Given the description of an element on the screen output the (x, y) to click on. 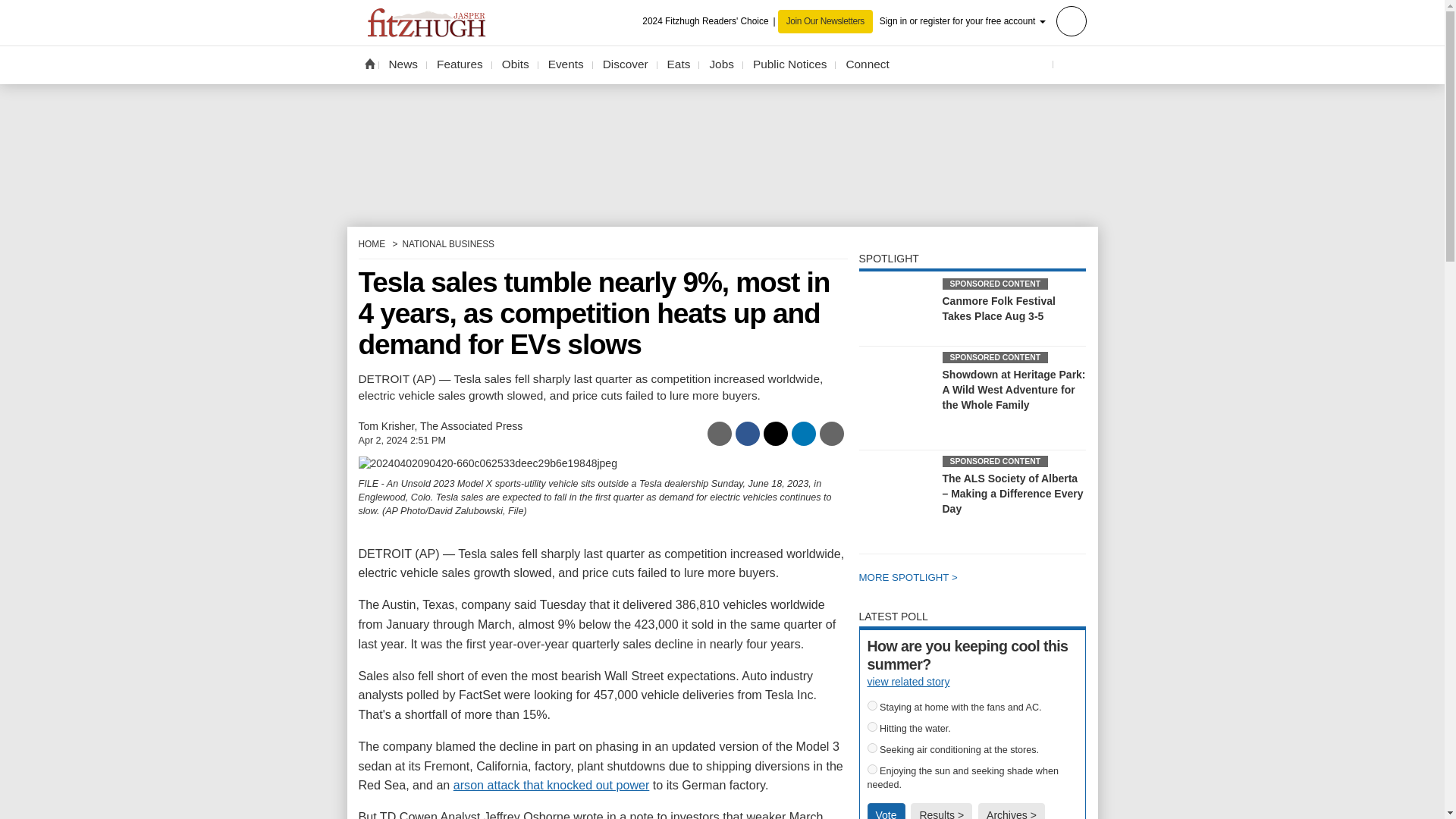
Has a gallery (969, 509)
2024 Fitzhugh Readers' Choice (709, 21)
Has a gallery (1038, 405)
122525 (872, 726)
122527 (872, 768)
122524 (872, 705)
Home (368, 63)
Join Our Newsletters (824, 21)
Sign in or register for your free account (982, 20)
122526 (872, 747)
